Given the description of an element on the screen output the (x, y) to click on. 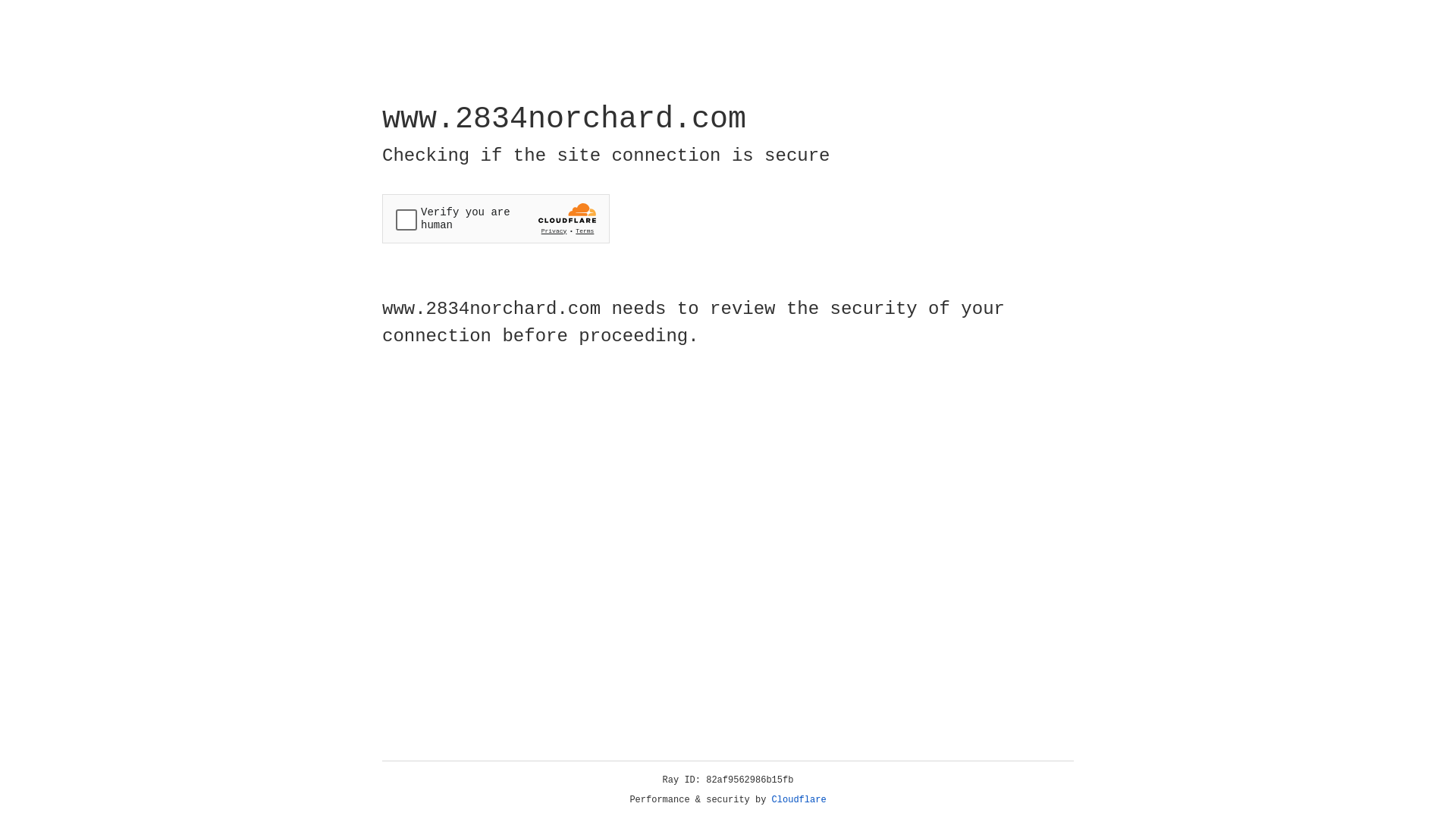
Widget containing a Cloudflare security challenge Element type: hover (495, 218)
Cloudflare Element type: text (798, 799)
